Given the description of an element on the screen output the (x, y) to click on. 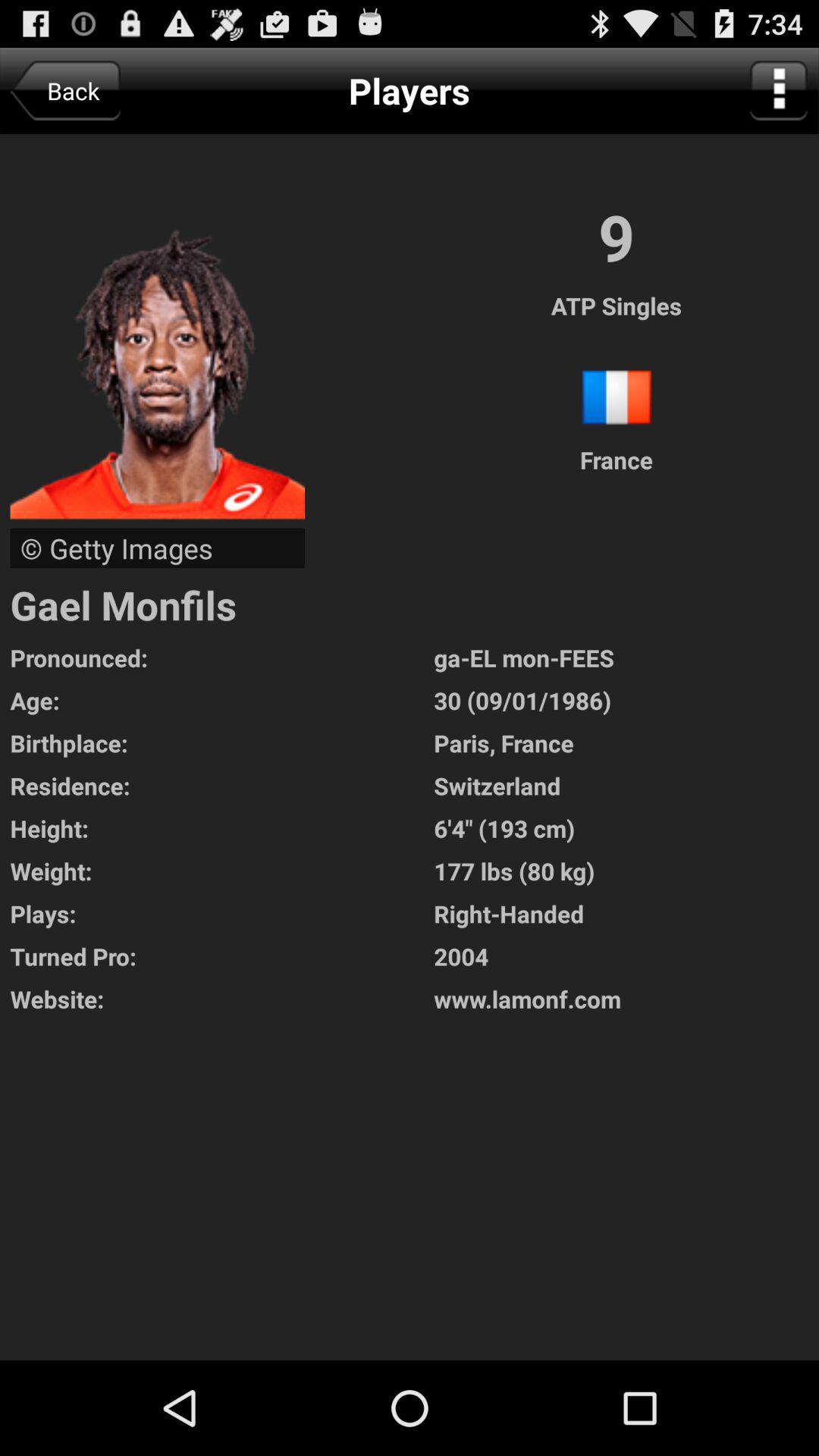
press ga el mon icon (626, 657)
